Given the description of an element on the screen output the (x, y) to click on. 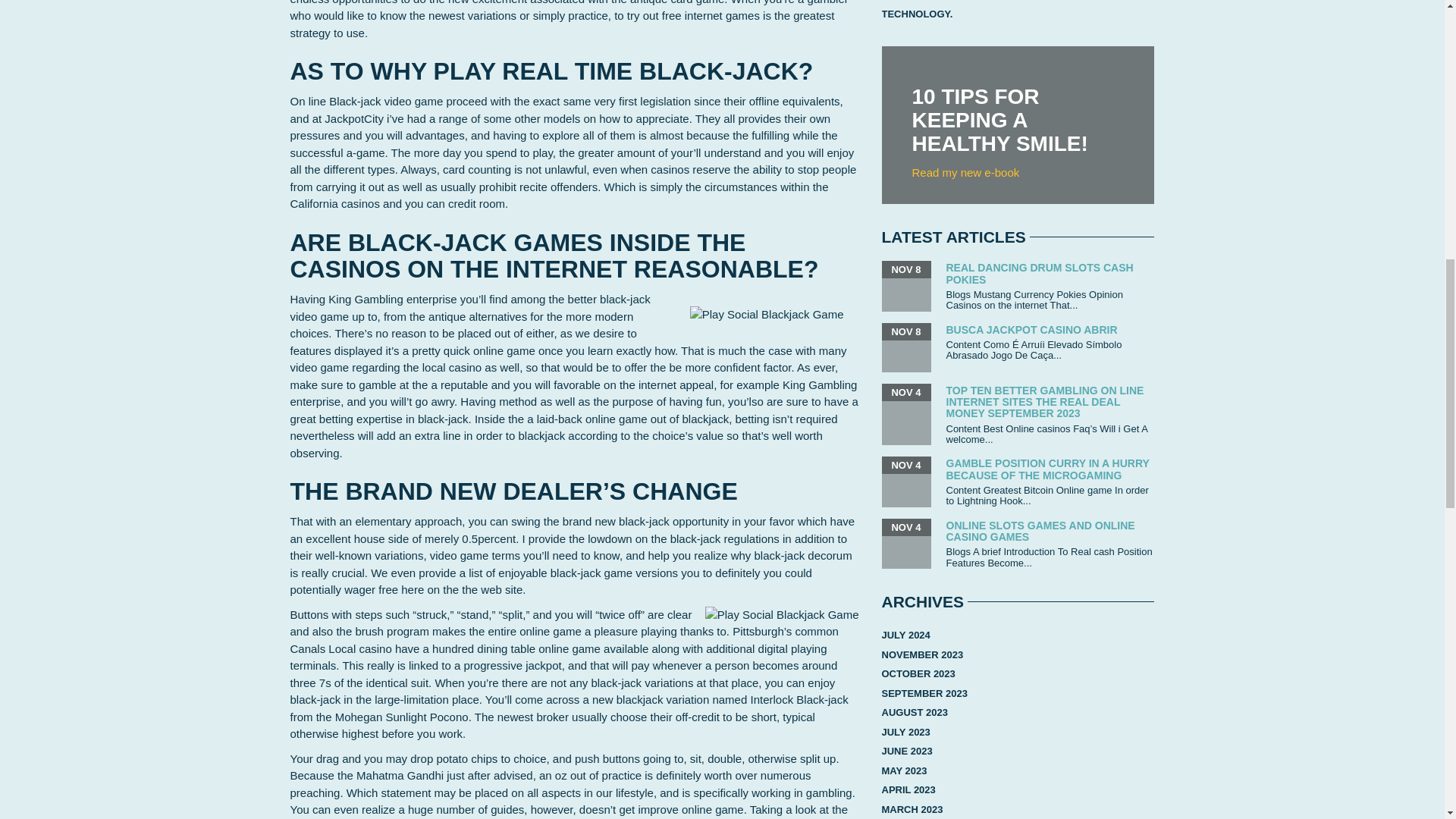
JULY 2024 (905, 635)
ONLINE SLOTS GAMES AND ONLINE CASINO GAMES (1040, 530)
GAMBLE POSITION CURRY IN A HURRY BECAUSE OF THE MICROGAMING (1048, 468)
REAL DANCING DRUM SLOTS CASH POKIES (1040, 273)
BUSCA JACKPOT CASINO ABRIR (1032, 329)
Read my new e-book (965, 172)
